Given the description of an element on the screen output the (x, y) to click on. 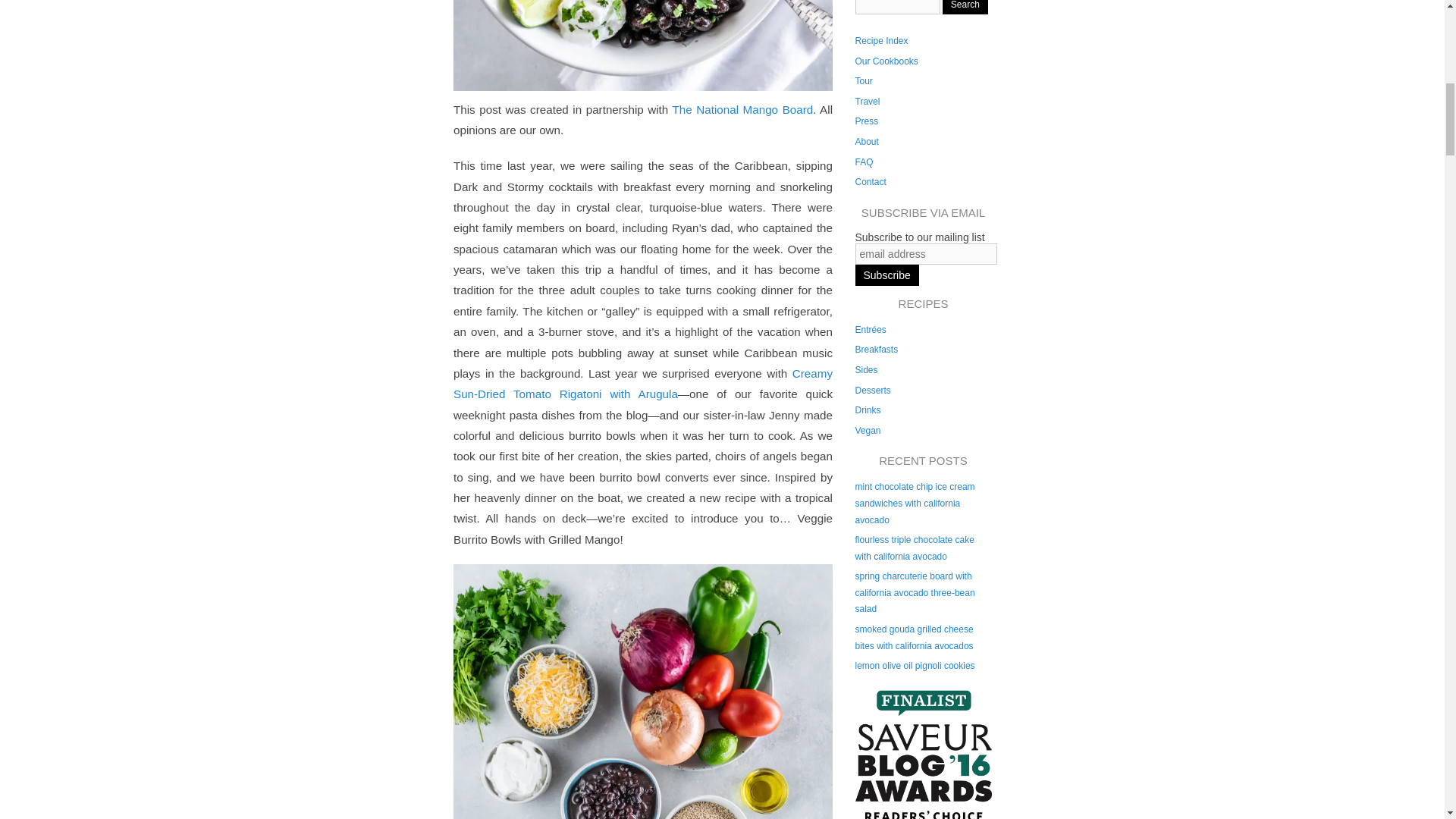
Search (965, 7)
veggie burrito bowls with grilled mango (642, 45)
summer time is grilling time (642, 691)
Subscribe (887, 274)
Creamy Sun-Dried Tomato Rigatoni with Arugula (642, 383)
The National Mango Board (742, 109)
